Given the description of an element on the screen output the (x, y) to click on. 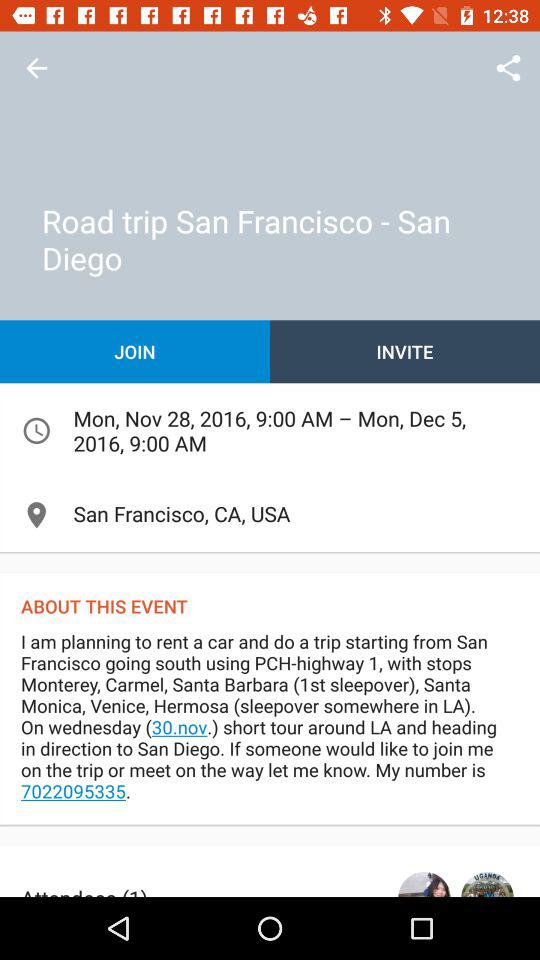
choose i am planning item (270, 726)
